Given the description of an element on the screen output the (x, y) to click on. 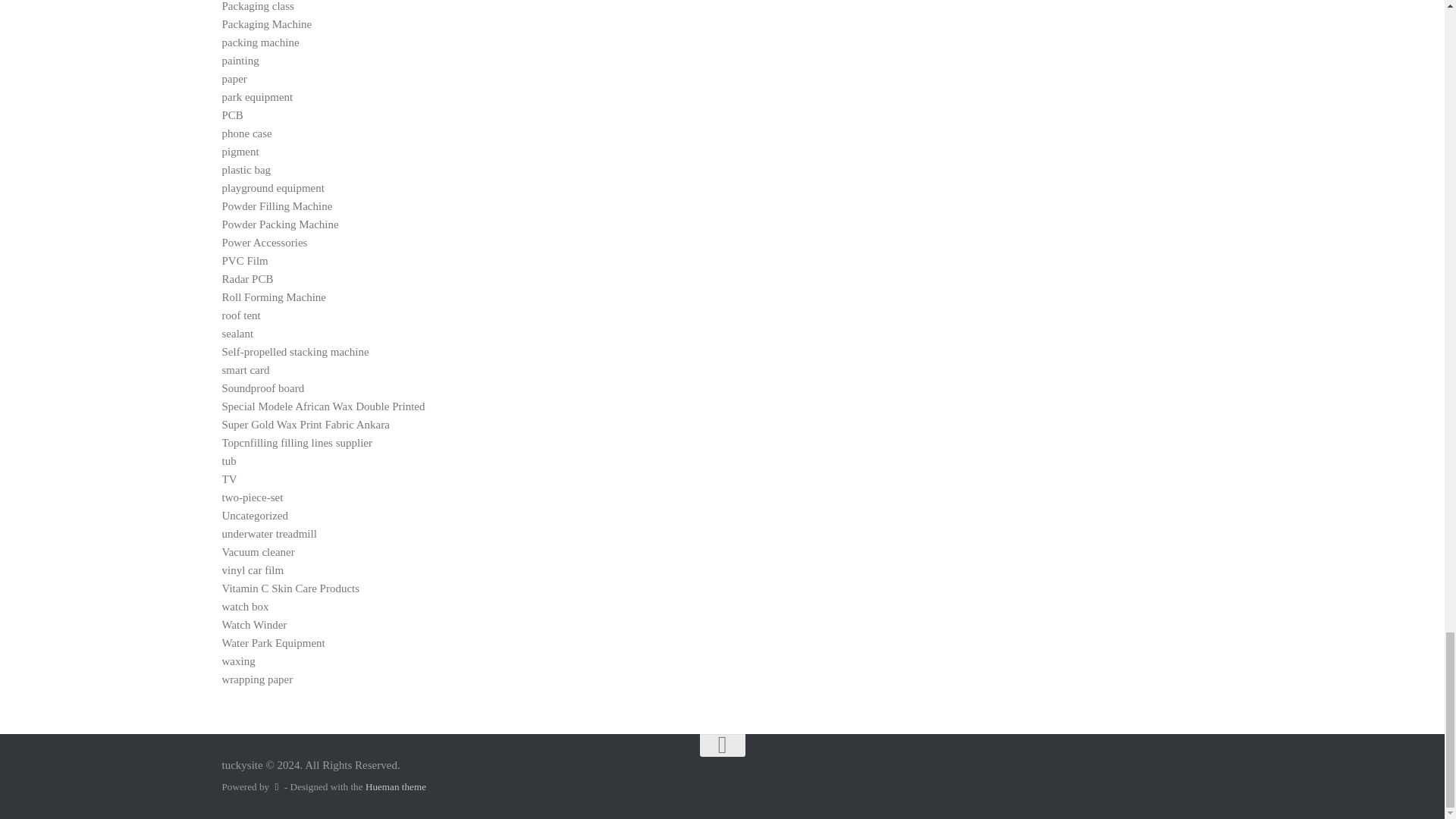
Powered by WordPress (275, 786)
Hueman theme (395, 786)
